Given the description of an element on the screen output the (x, y) to click on. 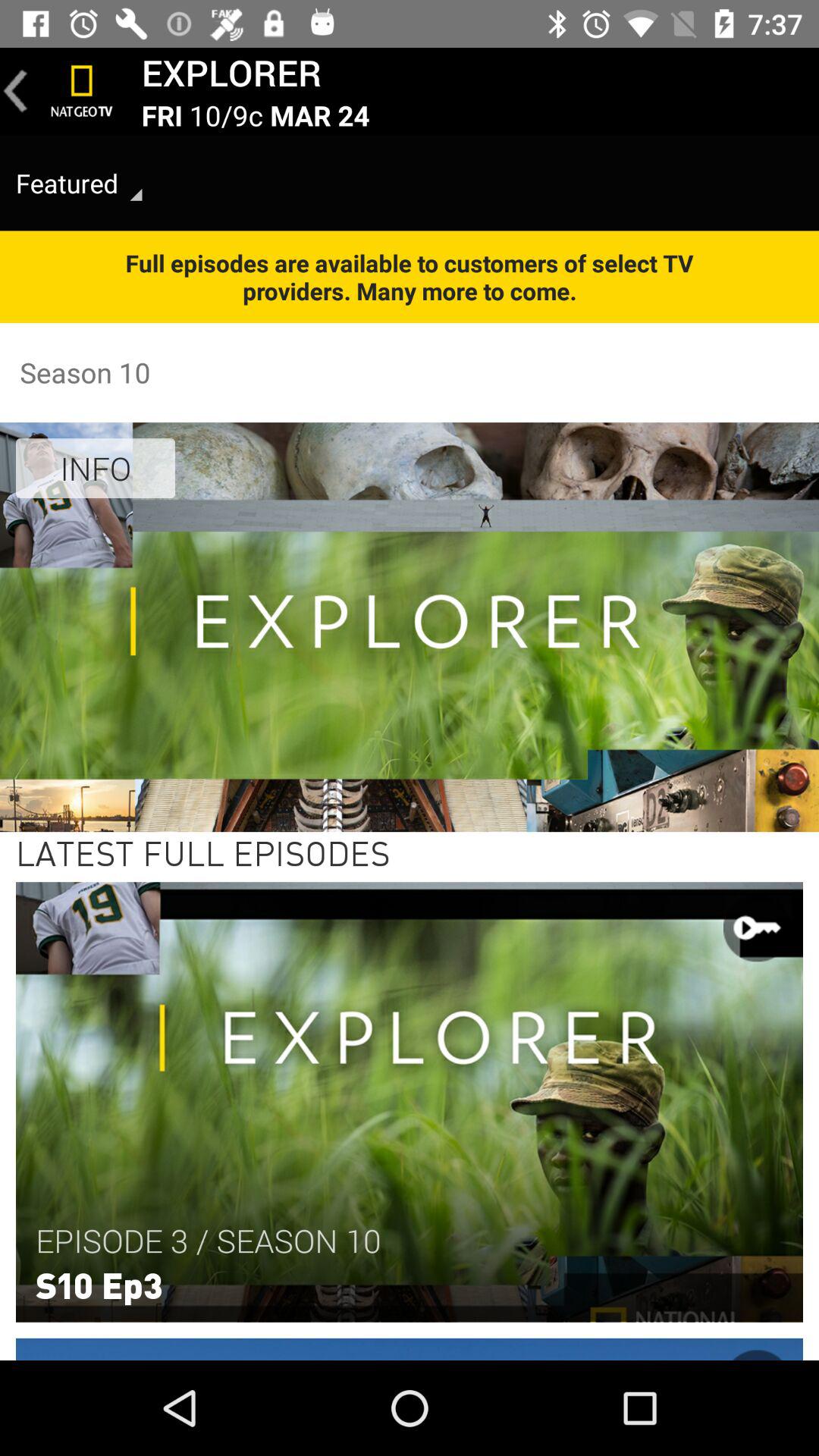
launch s10 ep3 item (98, 1284)
